Given the description of an element on the screen output the (x, y) to click on. 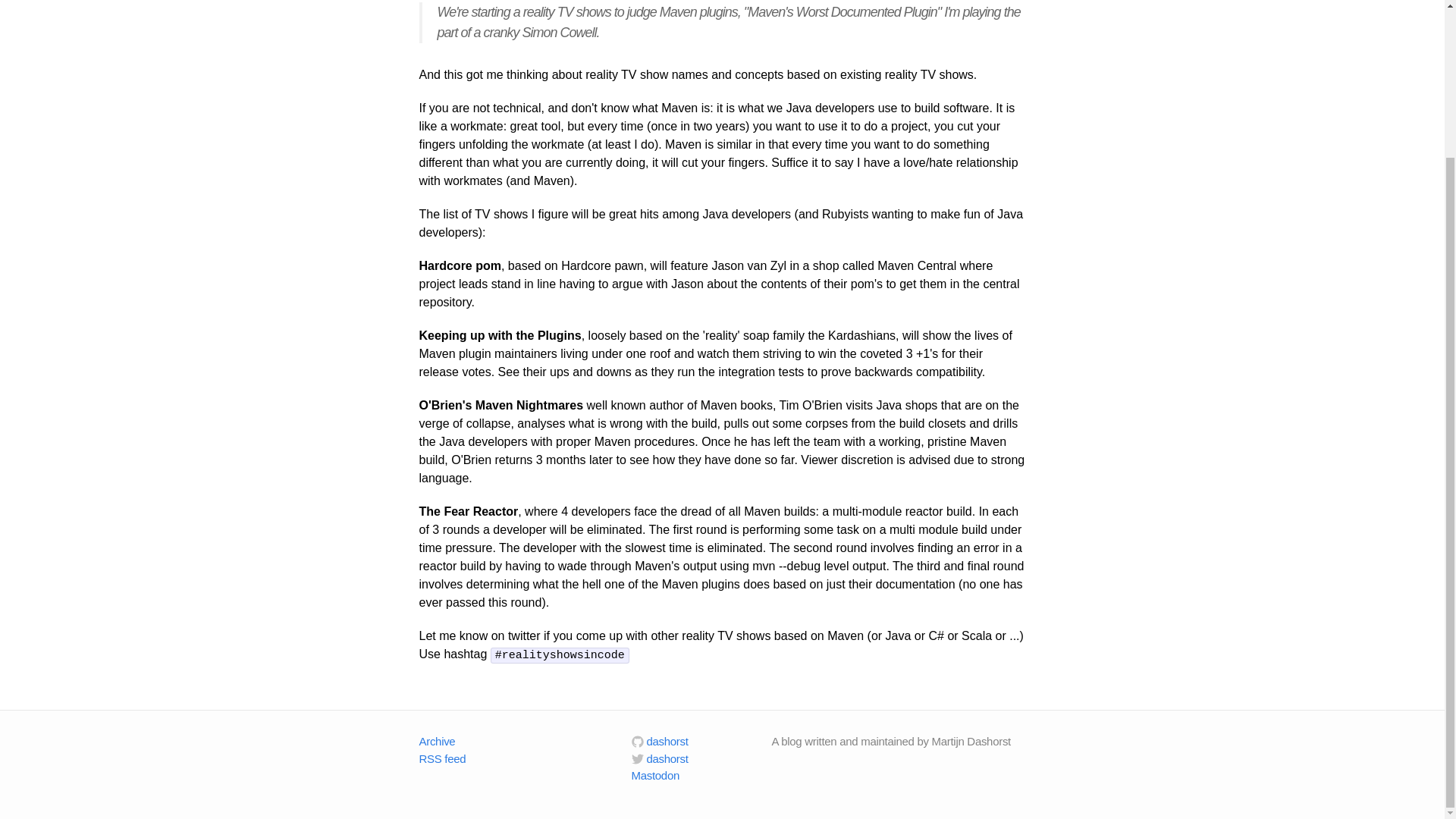
RSS feed (442, 757)
dashorst (658, 757)
Archive (436, 740)
Mastodon (654, 775)
dashorst (658, 740)
